Given the description of an element on the screen output the (x, y) to click on. 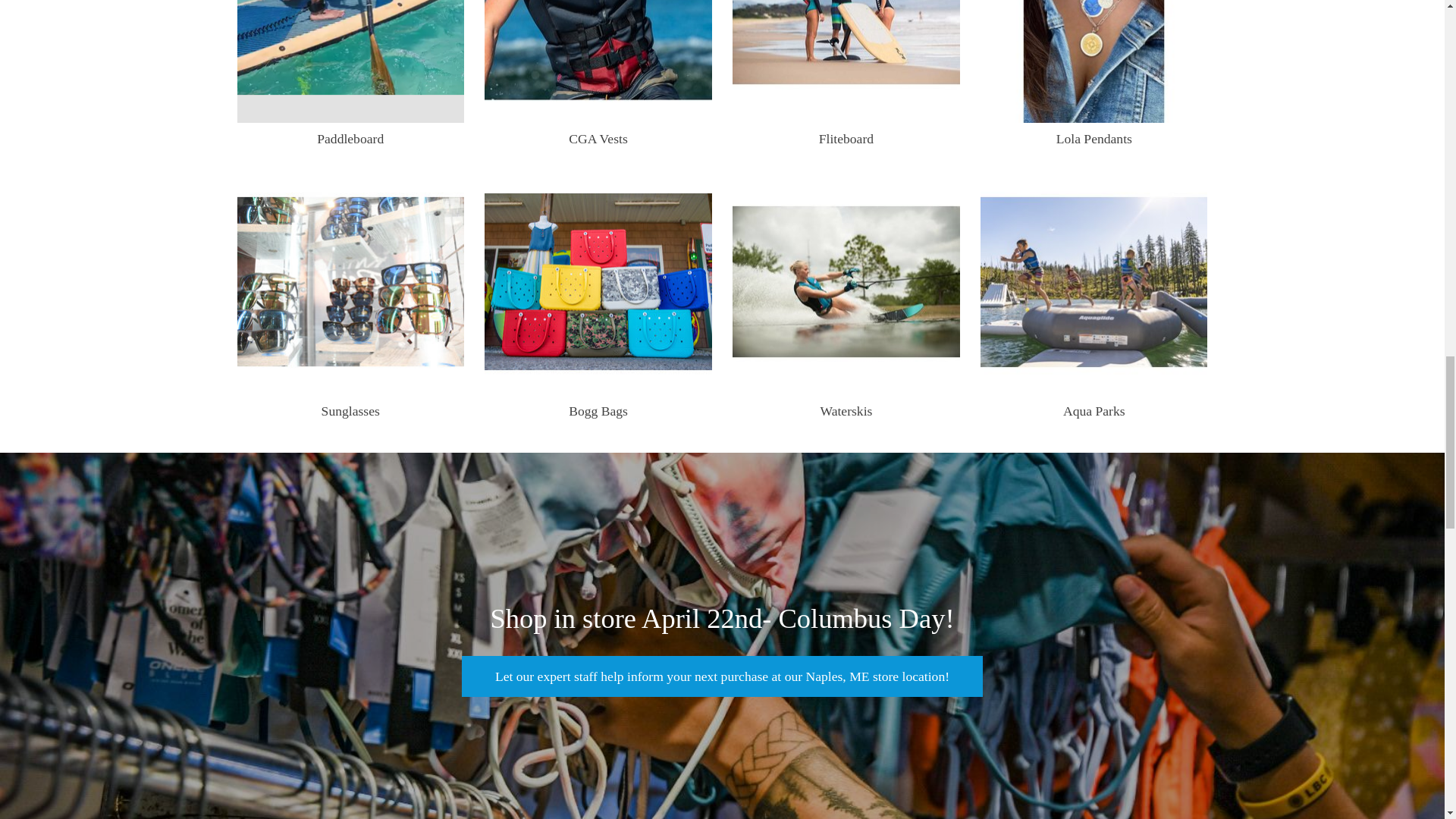
Lola Pendants (1093, 61)
Paddleboard (350, 61)
Fliteboard (845, 61)
Sunglasses (350, 281)
CGA Vests (597, 61)
